Given the description of an element on the screen output the (x, y) to click on. 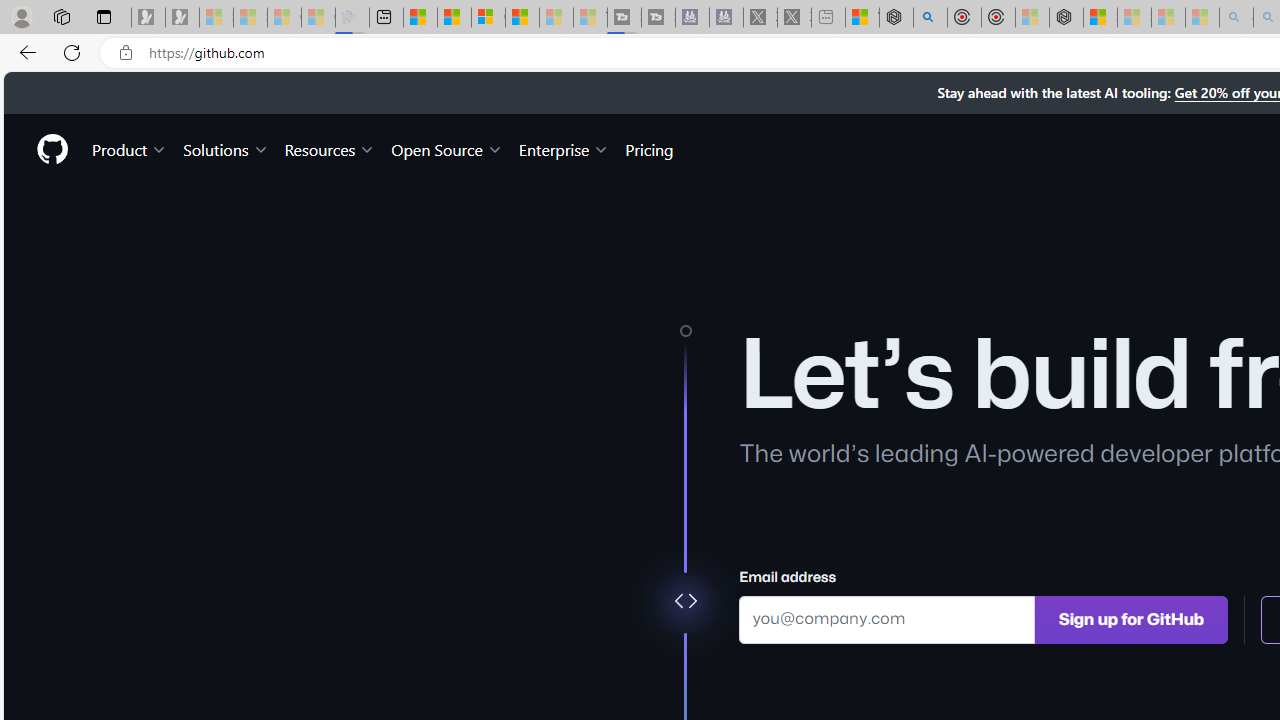
Solutions (225, 148)
Resources (330, 148)
Open Source (446, 148)
Open Source (446, 148)
Newsletter Sign Up - Sleeping (182, 17)
